Given the description of an element on the screen output the (x, y) to click on. 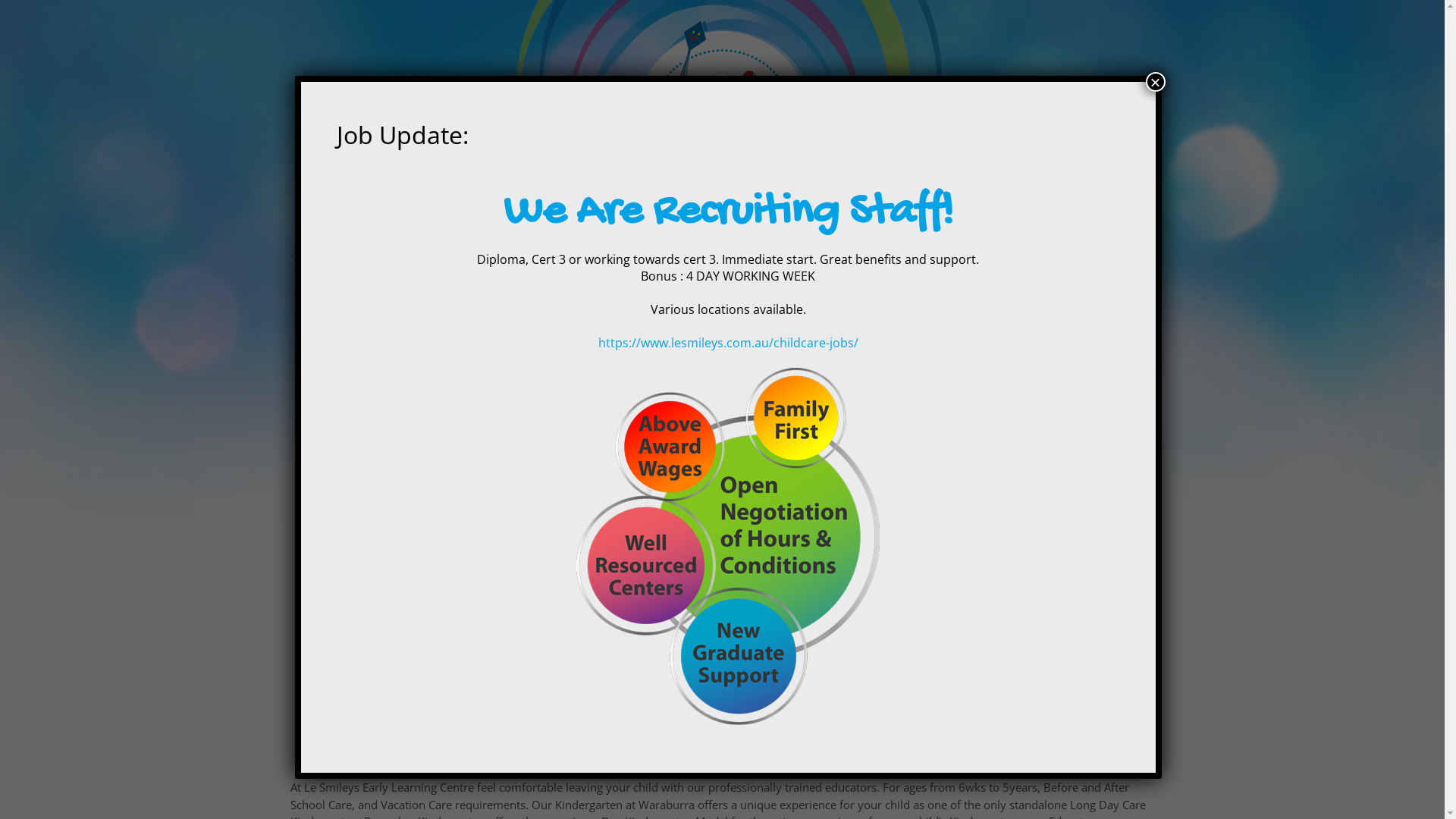
CAREERS Element type: text (912, 221)
ENROLMENTS Element type: text (761, 221)
EARLY LEARNING Element type: text (535, 221)
KINDERGARTENS Element type: text (653, 221)
CONTACT Element type: text (987, 221)
FORMS Element type: text (843, 221)
https://www.lesmileys.com.au/childcare-jobs/ Element type: text (727, 342)
HOME Element type: text (447, 221)
